Given the description of an element on the screen output the (x, y) to click on. 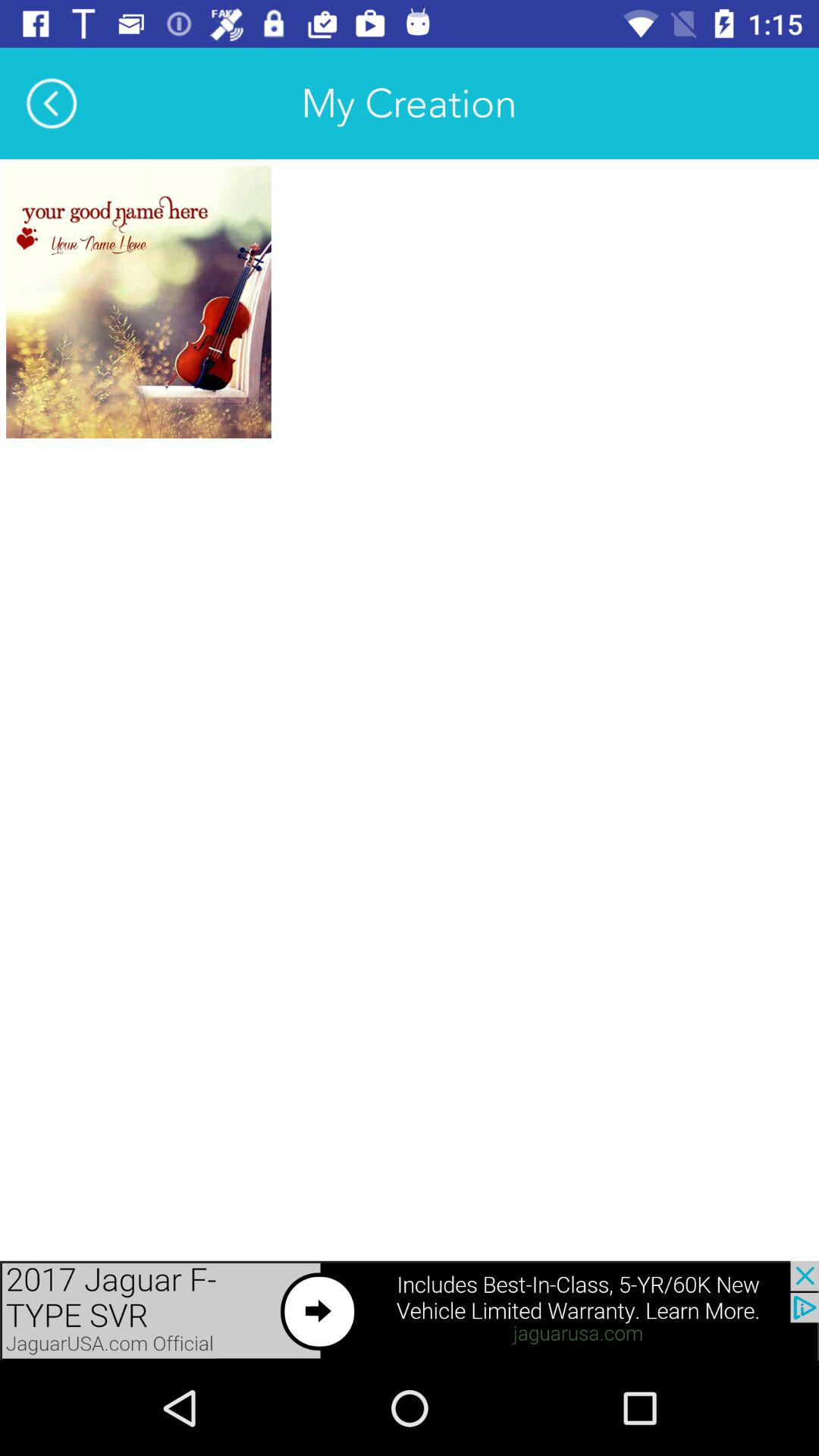
open this creation (138, 301)
